Given the description of an element on the screen output the (x, y) to click on. 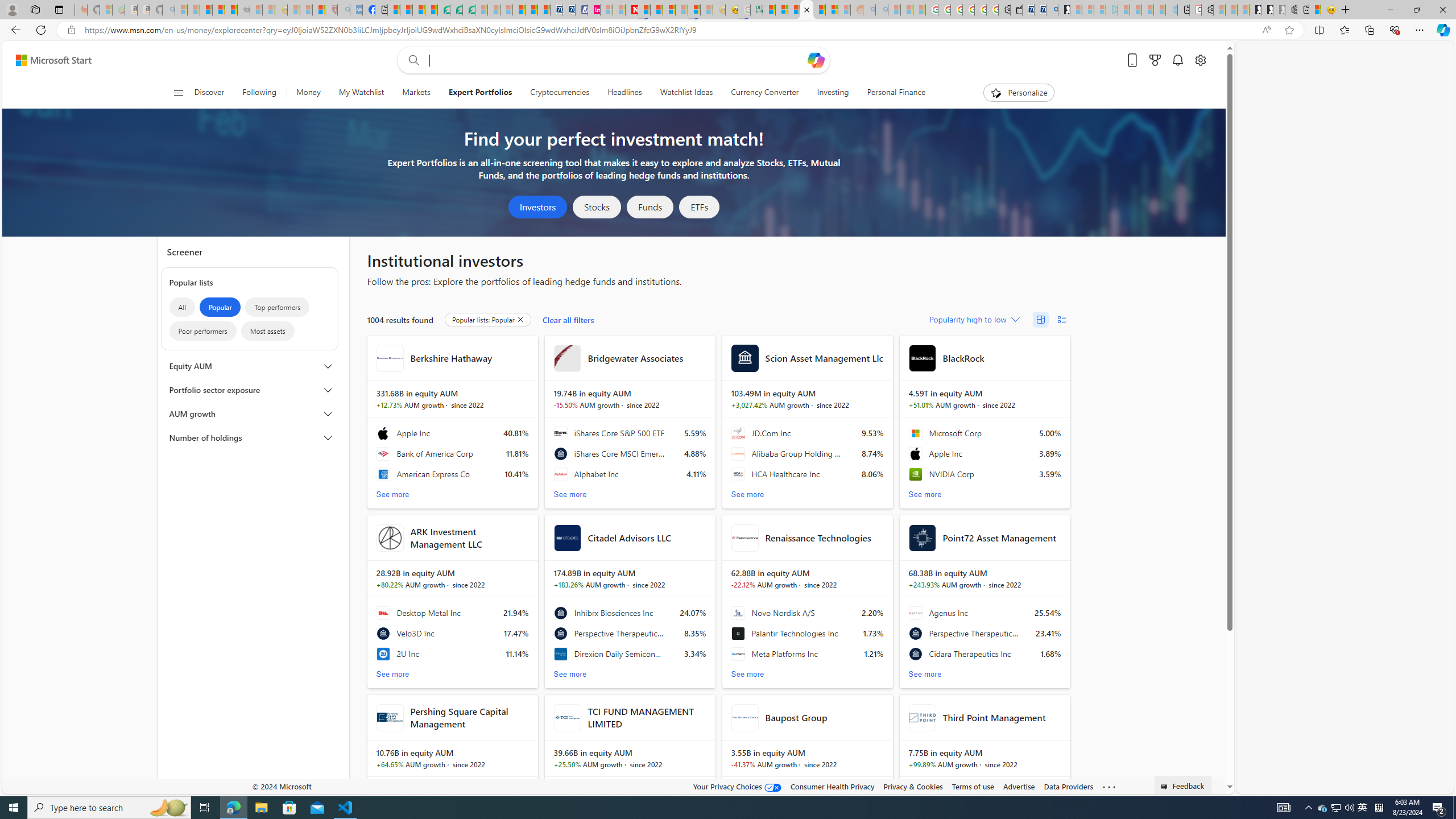
Microsoft Word - consumer-privacy address update 2.2021 (468, 9)
Your Privacy Choices (737, 786)
Headlines (624, 92)
